Given the description of an element on the screen output the (x, y) to click on. 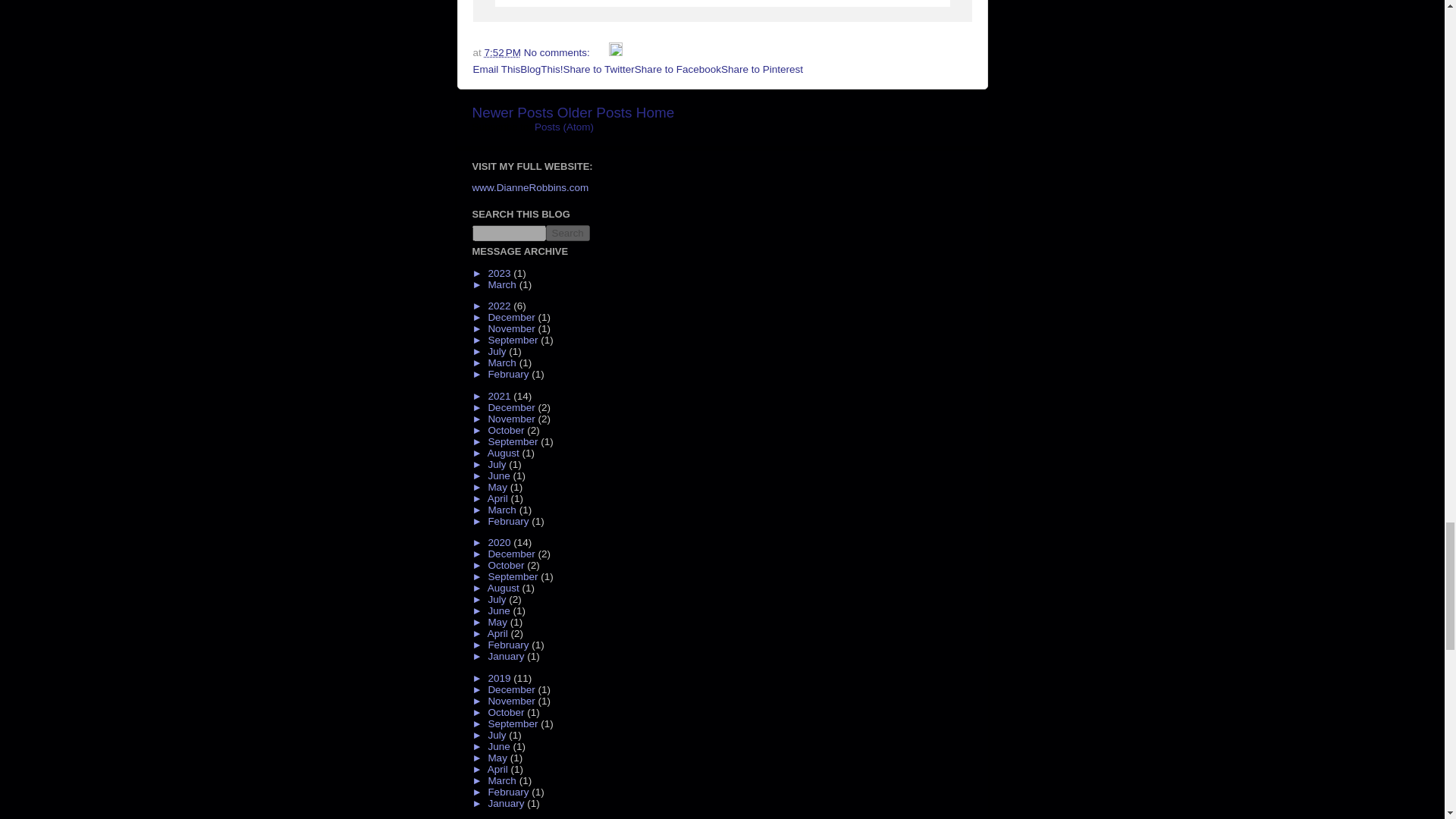
No comments: (558, 52)
BlogThis! (540, 69)
Edit Post (615, 52)
Older Posts (594, 112)
search (567, 232)
Share to Pinterest (761, 69)
Email Post (600, 52)
Search (567, 232)
Newer Posts (512, 112)
Email This (497, 69)
Share to Twitter (598, 69)
Search (567, 232)
search (507, 232)
permanent link (502, 52)
